Given the description of an element on the screen output the (x, y) to click on. 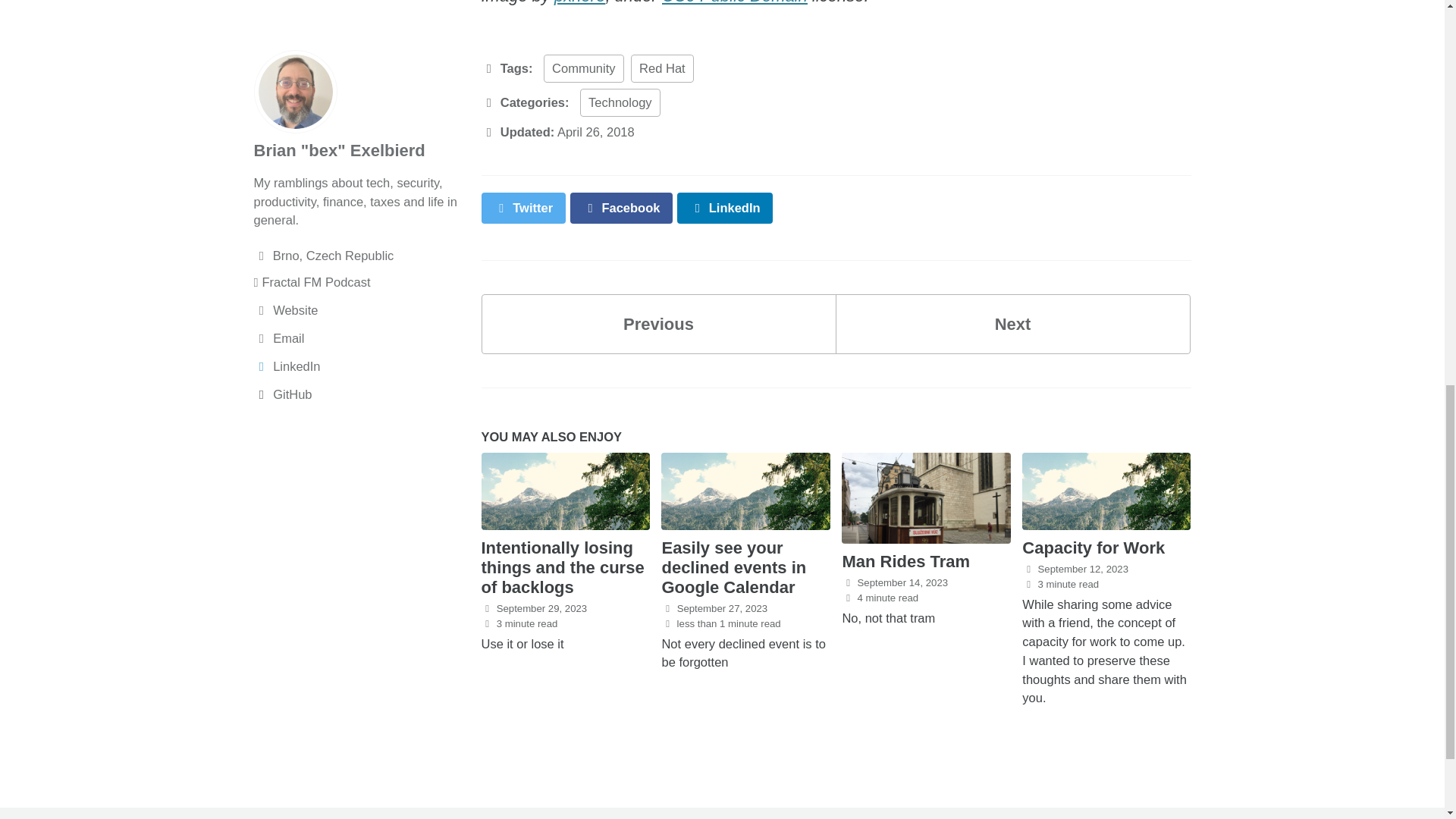
Share on Twitter (522, 207)
Man Rides Tram (905, 561)
Twitter (522, 207)
Intentionally losing things and the curse of backlogs (561, 567)
Community (583, 68)
Previous (657, 323)
Capacity for Work (1093, 547)
Share on Facebook (621, 207)
LinkedIn (725, 207)
pxhere (579, 2)
Red Hat (662, 68)
Facebook (621, 207)
Next (1013, 323)
Technology (619, 102)
CC0 Public Domain (735, 2)
